Given the description of an element on the screen output the (x, y) to click on. 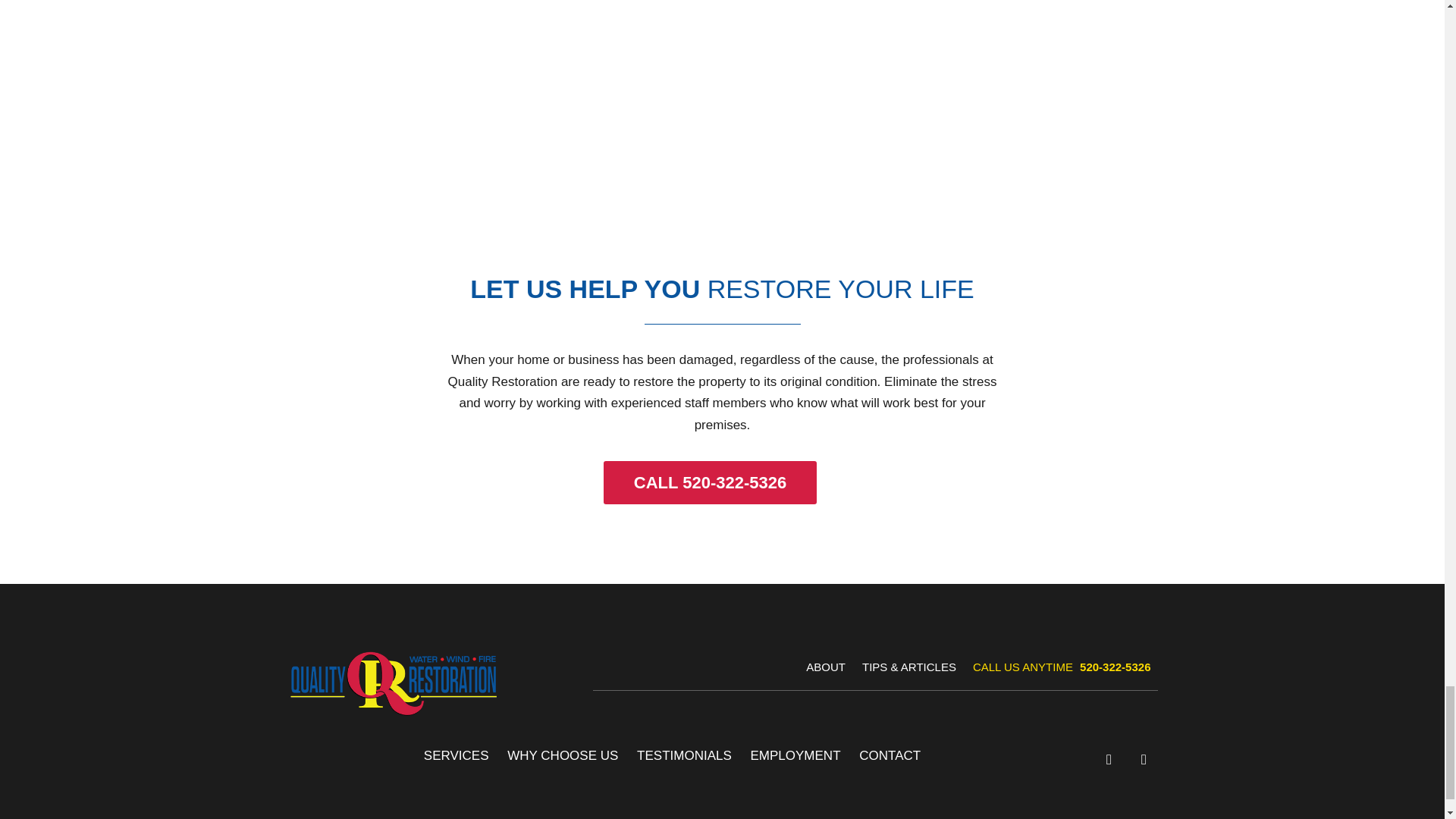
Follow on X (1143, 759)
Follow on Facebook (1109, 759)
Quality Restoration 24 Hour Emergency Services (722, 125)
logo (392, 682)
